Given the description of an element on the screen output the (x, y) to click on. 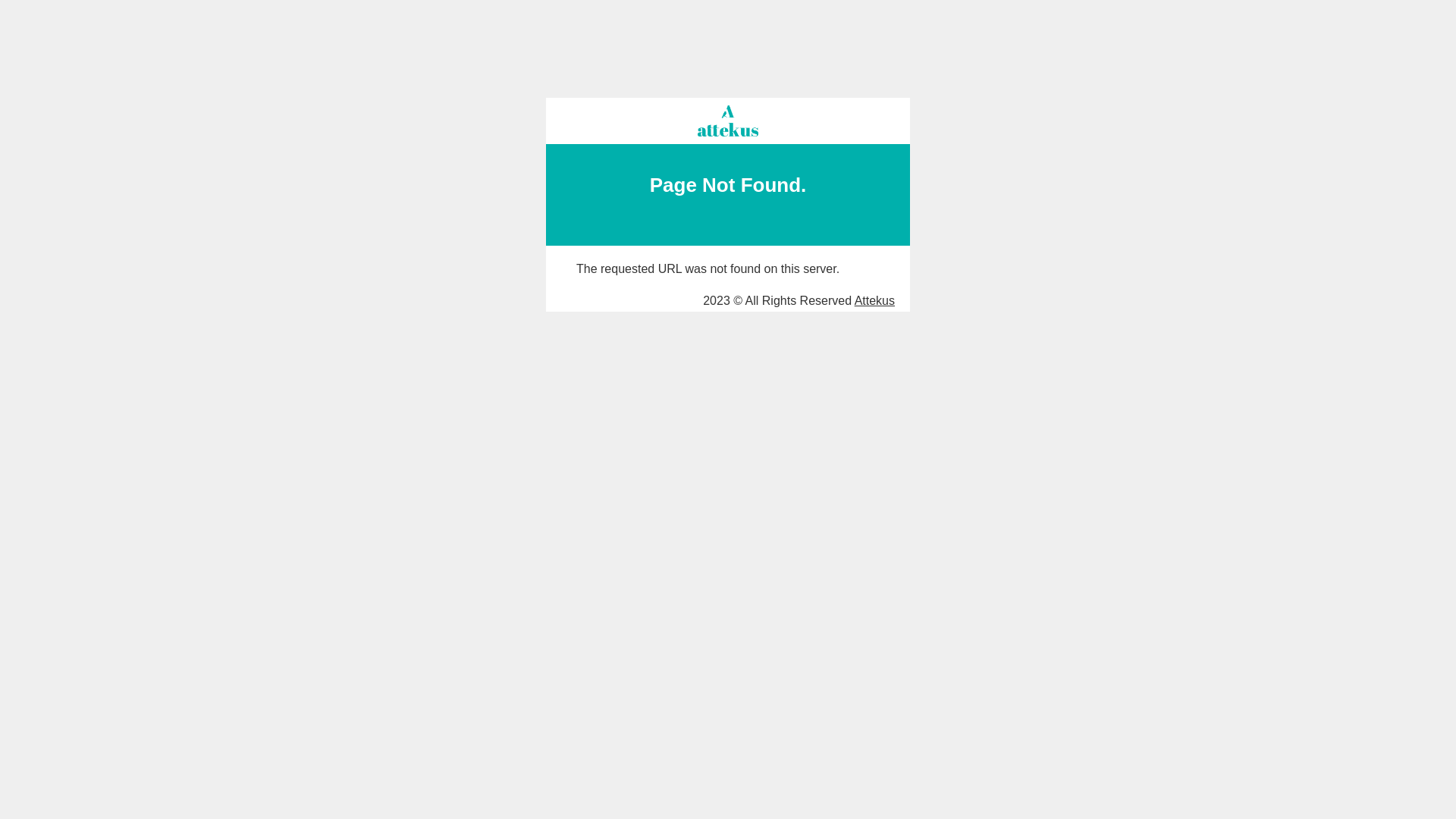
Attekus Element type: text (874, 300)
